Given the description of an element on the screen output the (x, y) to click on. 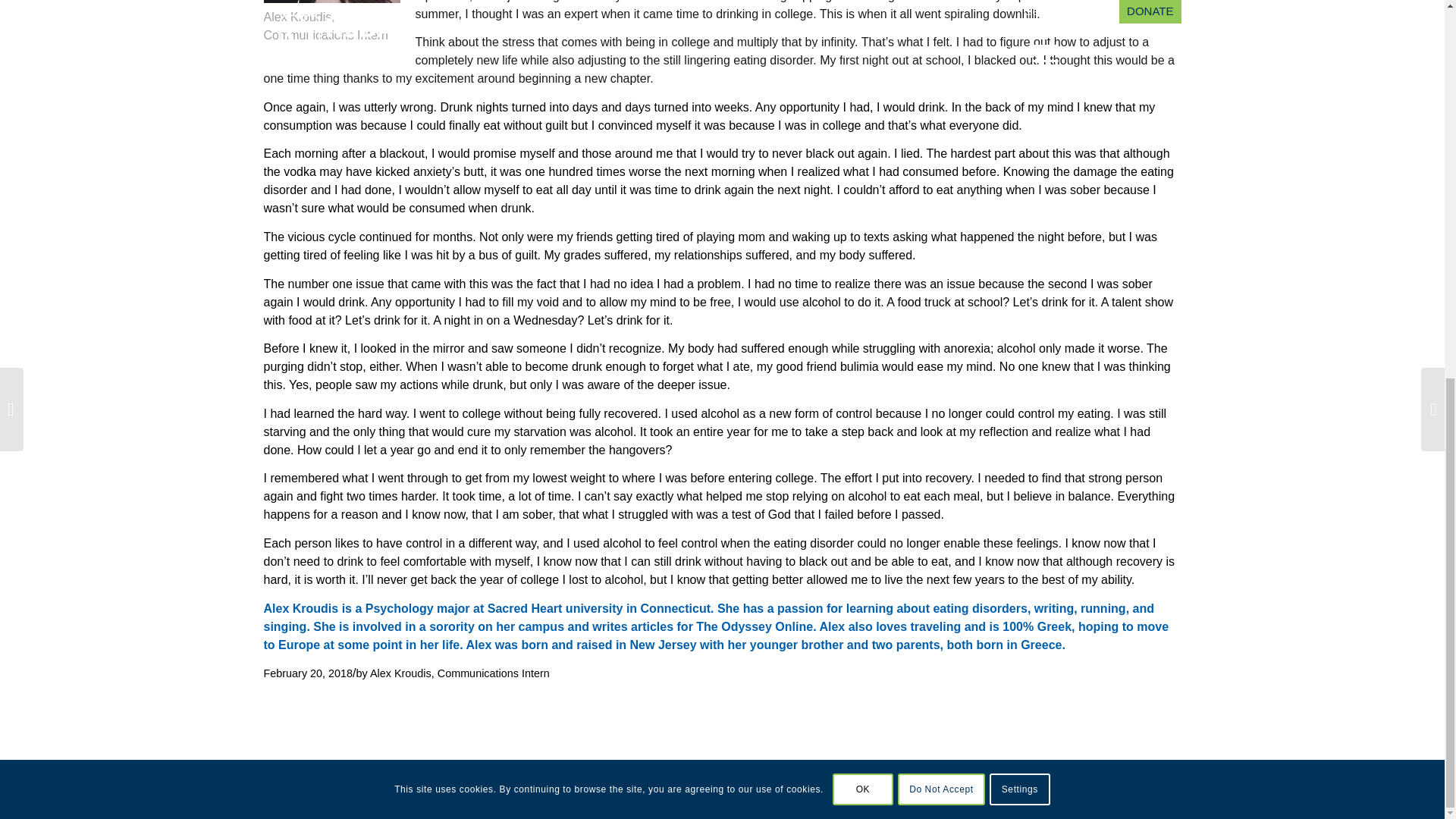
Do Not Accept (941, 88)
OK (862, 88)
Settings (1019, 88)
